Given the description of an element on the screen output the (x, y) to click on. 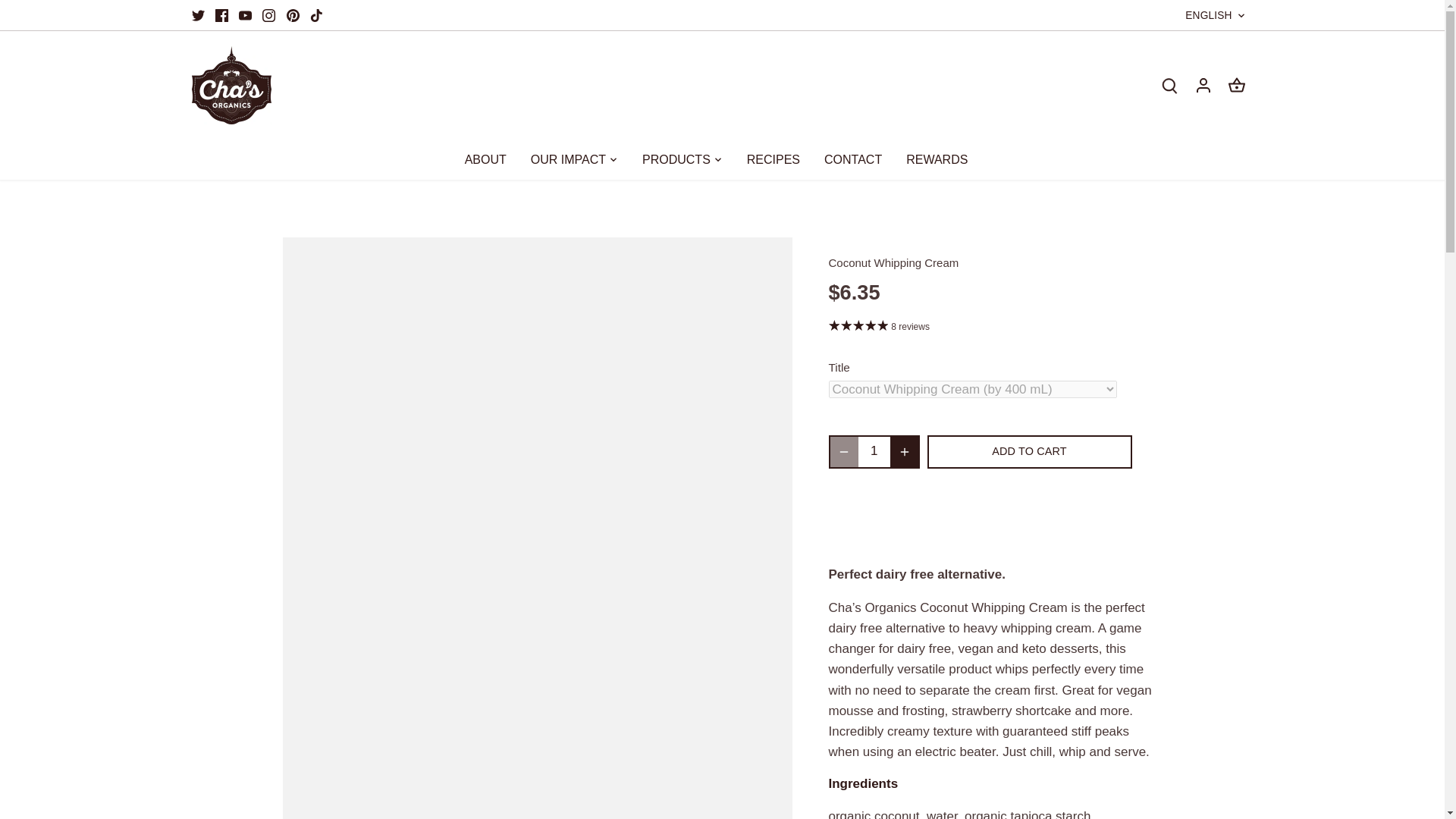
Pinterest (292, 15)
1 (875, 451)
Pinterest (292, 14)
ABOUT (491, 159)
ENGLISH (1215, 15)
Youtube (244, 14)
Facebook (221, 14)
CONTACT (852, 159)
Facebook (221, 15)
PRODUCTS (676, 159)
Instagram (268, 15)
Youtube (244, 15)
Instagram (268, 14)
REWARDS (936, 159)
Twitter (196, 14)
